Given the description of an element on the screen output the (x, y) to click on. 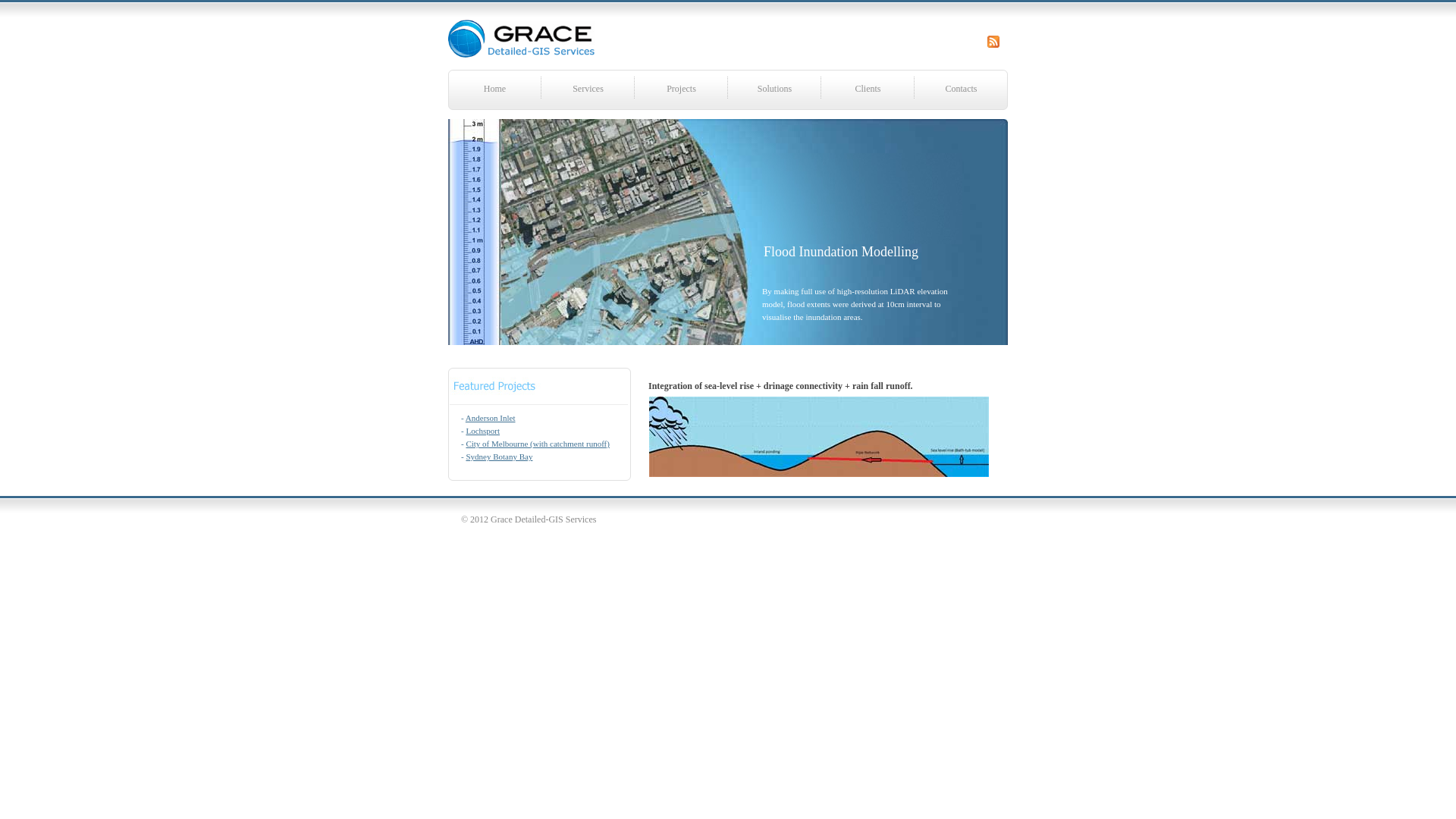
Sydney Botany Bay Element type: text (498, 456)
City of Melbourne (with catchment runoff) Element type: text (537, 443)
Lochsport Element type: text (482, 430)
Solutions Element type: text (774, 87)
Clients Element type: text (867, 87)
Services Element type: text (587, 87)
Contacts Element type: text (960, 87)
Home Element type: text (494, 87)
Anderson Inlet Element type: text (490, 417)
Projects Element type: text (681, 87)
